Given the description of an element on the screen output the (x, y) to click on. 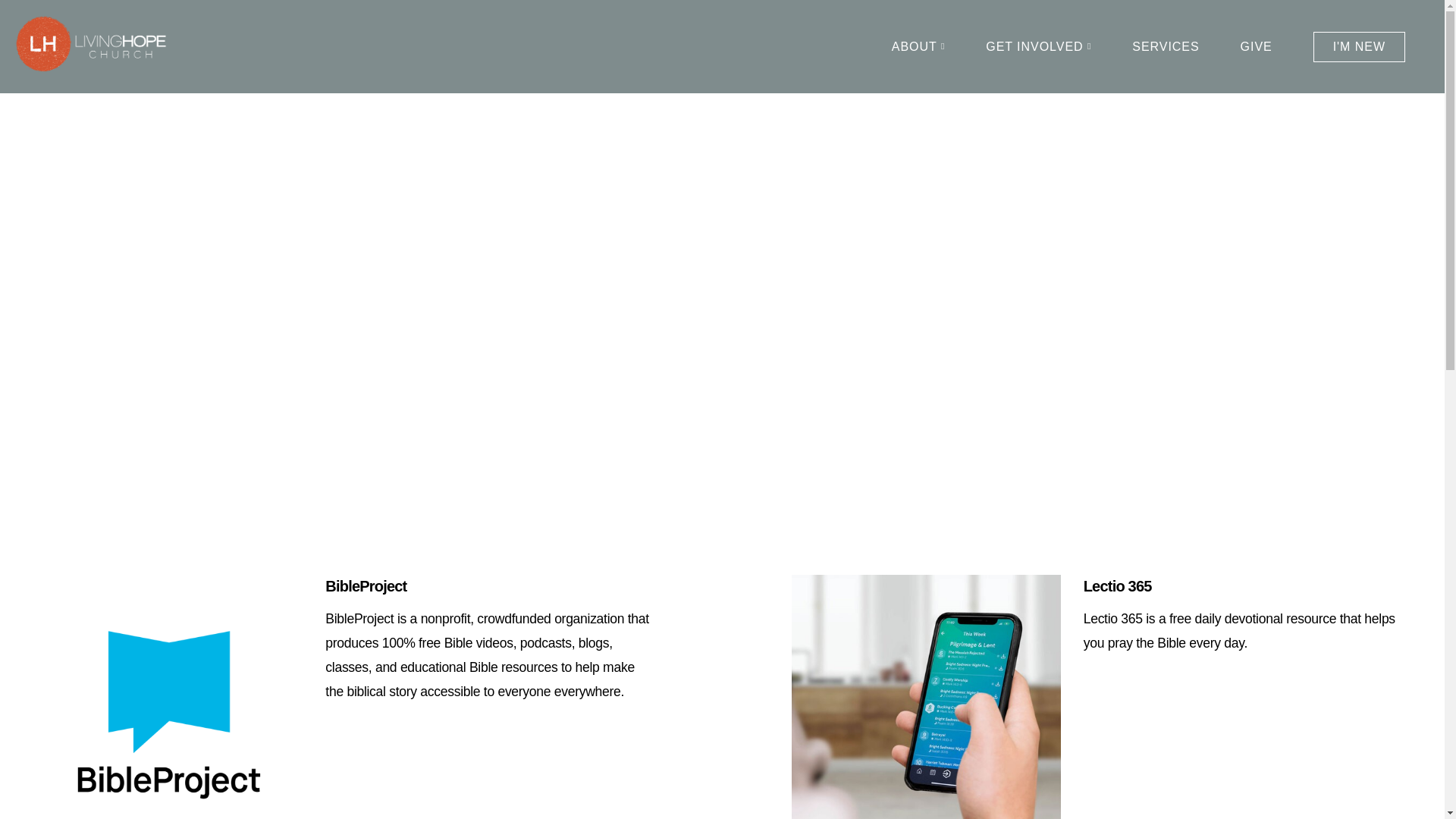
GIVE (1256, 46)
I'M NEW (1359, 46)
SERVICES (1165, 46)
GET INVOLVED  (1037, 46)
ABOUT  (917, 46)
